Given the description of an element on the screen output the (x, y) to click on. 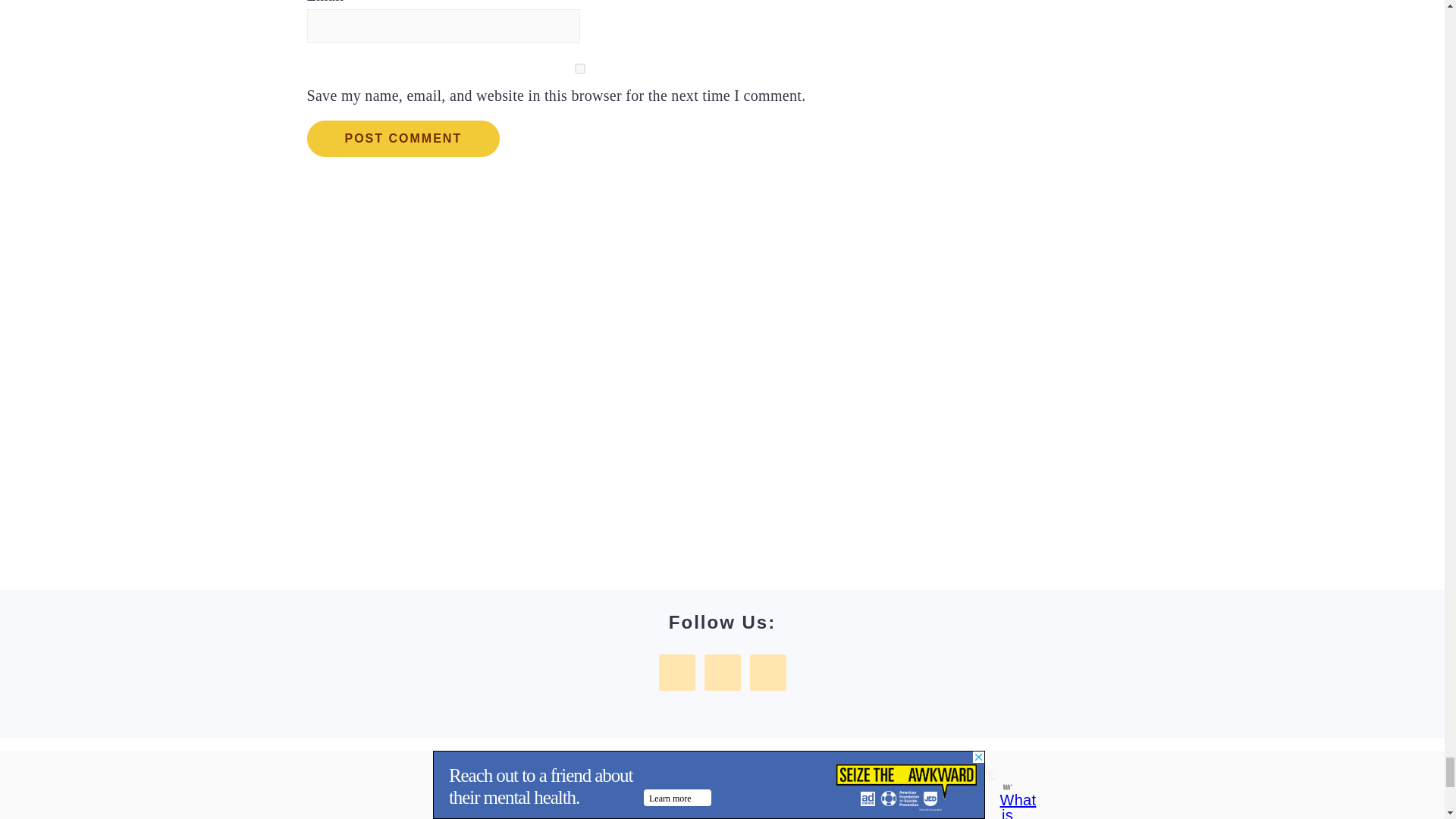
Post Comment (402, 138)
yes (578, 68)
